Given the description of an element on the screen output the (x, y) to click on. 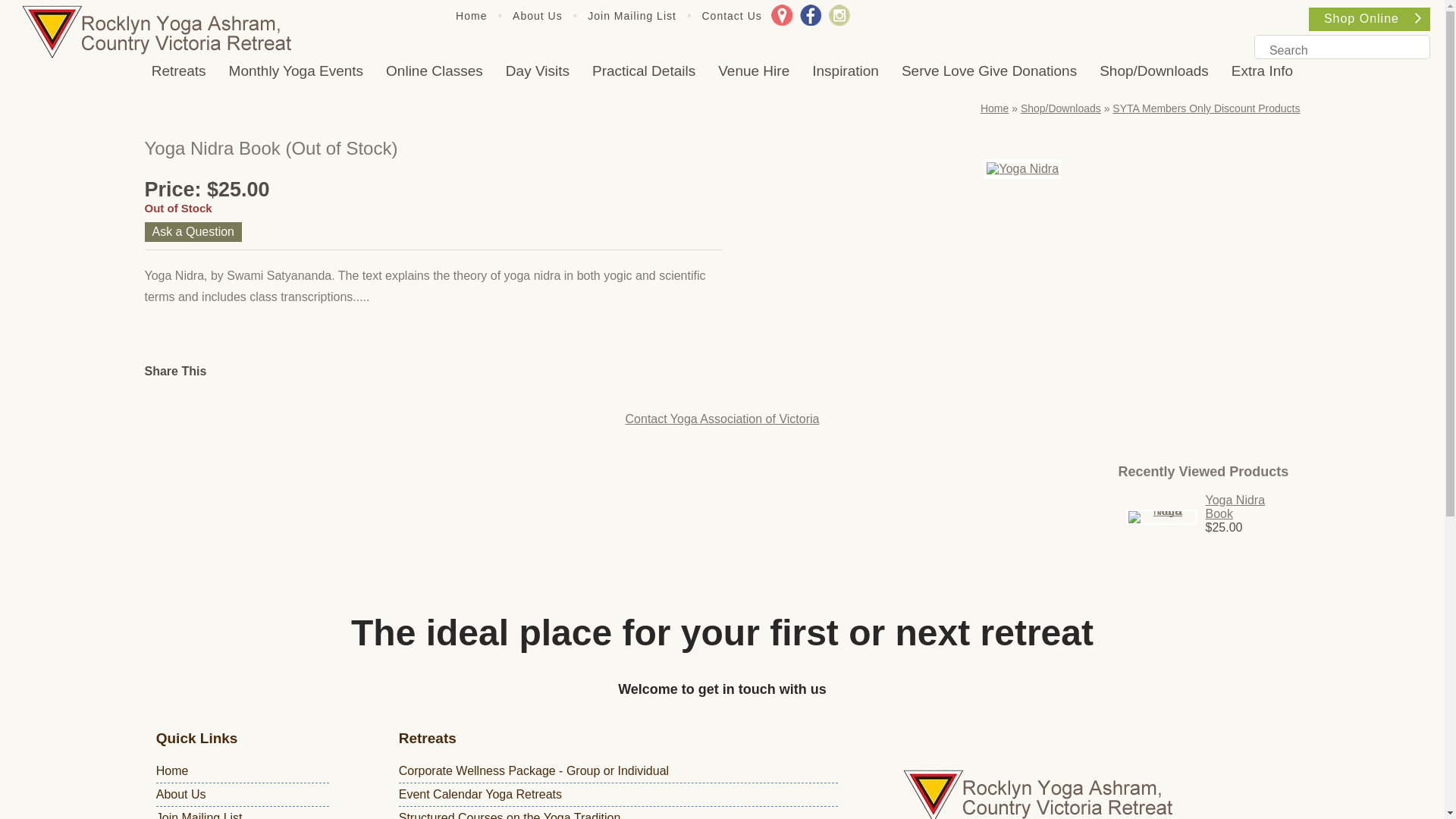
Home Element type: text (172, 770)
Shop/Downloads Element type: text (1154, 71)
Our Location on Google maps Element type: hover (781, 14)
Join Mailing List Element type: text (631, 15)
Monthly Yoga Events Element type: text (295, 71)
Shop Online Element type: text (1369, 19)
About Us Element type: text (537, 15)
Inspiration Element type: text (845, 71)
Day Visits Element type: text (537, 71)
Home Element type: text (994, 108)
Contact Us Element type: text (732, 15)
Serve Love Give Donations Element type: text (989, 71)
Ask a Question Element type: text (192, 231)
Online Classes Element type: text (434, 71)
Corporate Wellness Package - Group or Individual Element type: text (533, 770)
Follow us on Facebook Element type: hover (810, 14)
Yoga Association of Victoria Element type: hover (171, 32)
SYTA Members Only Discount Products Element type: text (1205, 108)
About Us Element type: text (181, 793)
Yoga Nidra Element type: hover (1161, 516)
Venue Hire Element type: text (753, 71)
Event Calendar Yoga Retreats Element type: text (479, 793)
Yoga Nidra Book Element type: text (1248, 506)
Yoga Nidra Element type: hover (1022, 168)
Retreats Element type: text (178, 71)
Search Element type: text (1414, 50)
Home Element type: text (470, 15)
View our Instagram Gallery Element type: hover (839, 14)
Practical Details Element type: text (643, 71)
Shop Online Element type: hover (1418, 17)
Extra Info Element type: text (1262, 71)
Shop/Downloads Element type: text (1060, 108)
Contact Yoga Association of Victoria Element type: text (722, 418)
